Given the description of an element on the screen output the (x, y) to click on. 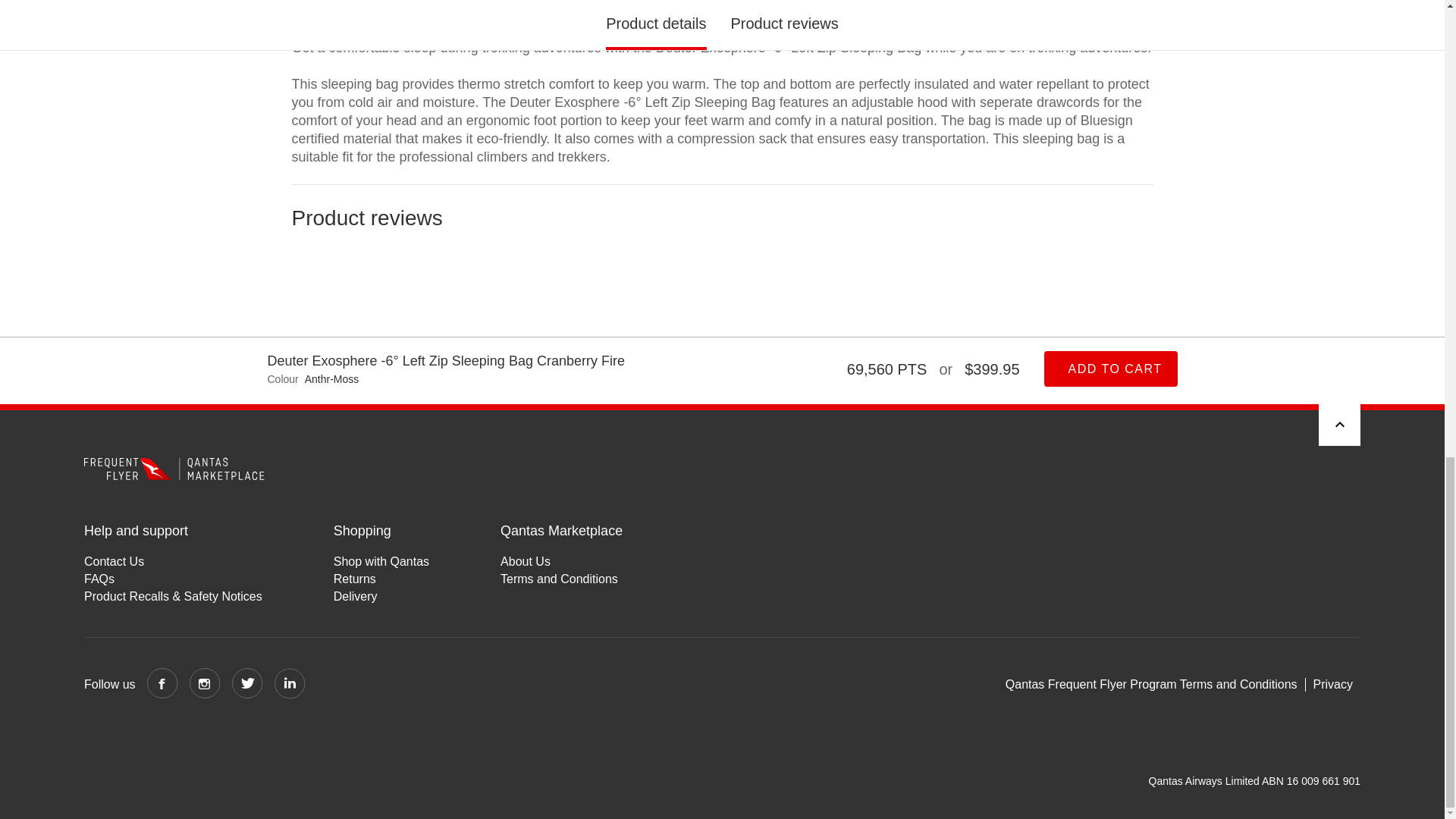
Privacy (1332, 684)
Delivery (381, 596)
Shop with Qantas (381, 561)
Contact Us (173, 561)
Returns (381, 579)
Terms and Conditions (561, 579)
Product reviews (722, 269)
FAQs (173, 579)
About Us (561, 561)
Qantas Frequent Flyer Program Terms and Conditions (1156, 684)
